Given the description of an element on the screen output the (x, y) to click on. 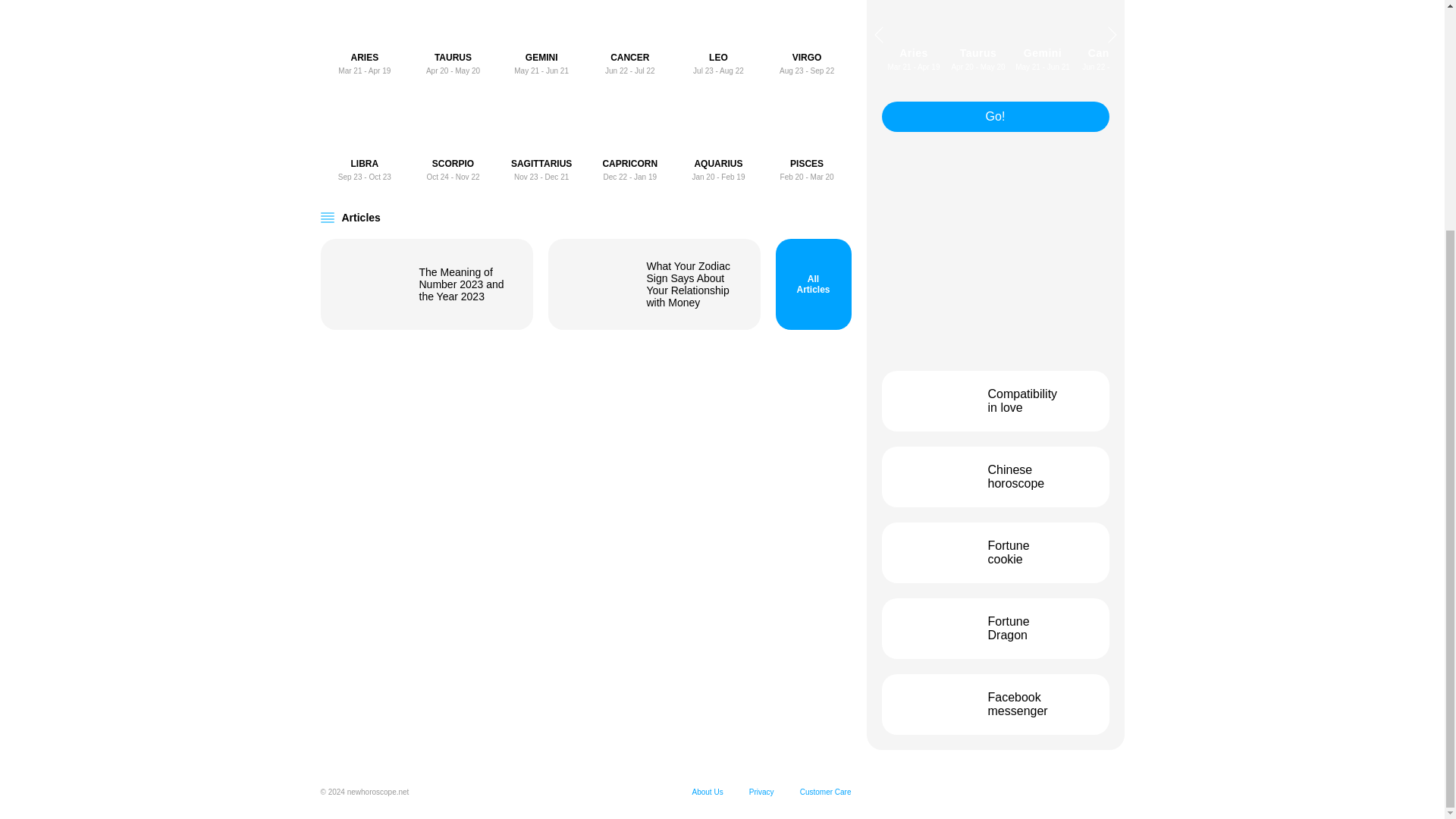
Facebook messenger (994, 704)
Fortune Dragon (629, 37)
The Meaning of Number 2023 and the Year 2023 (452, 37)
